Given the description of an element on the screen output the (x, y) to click on. 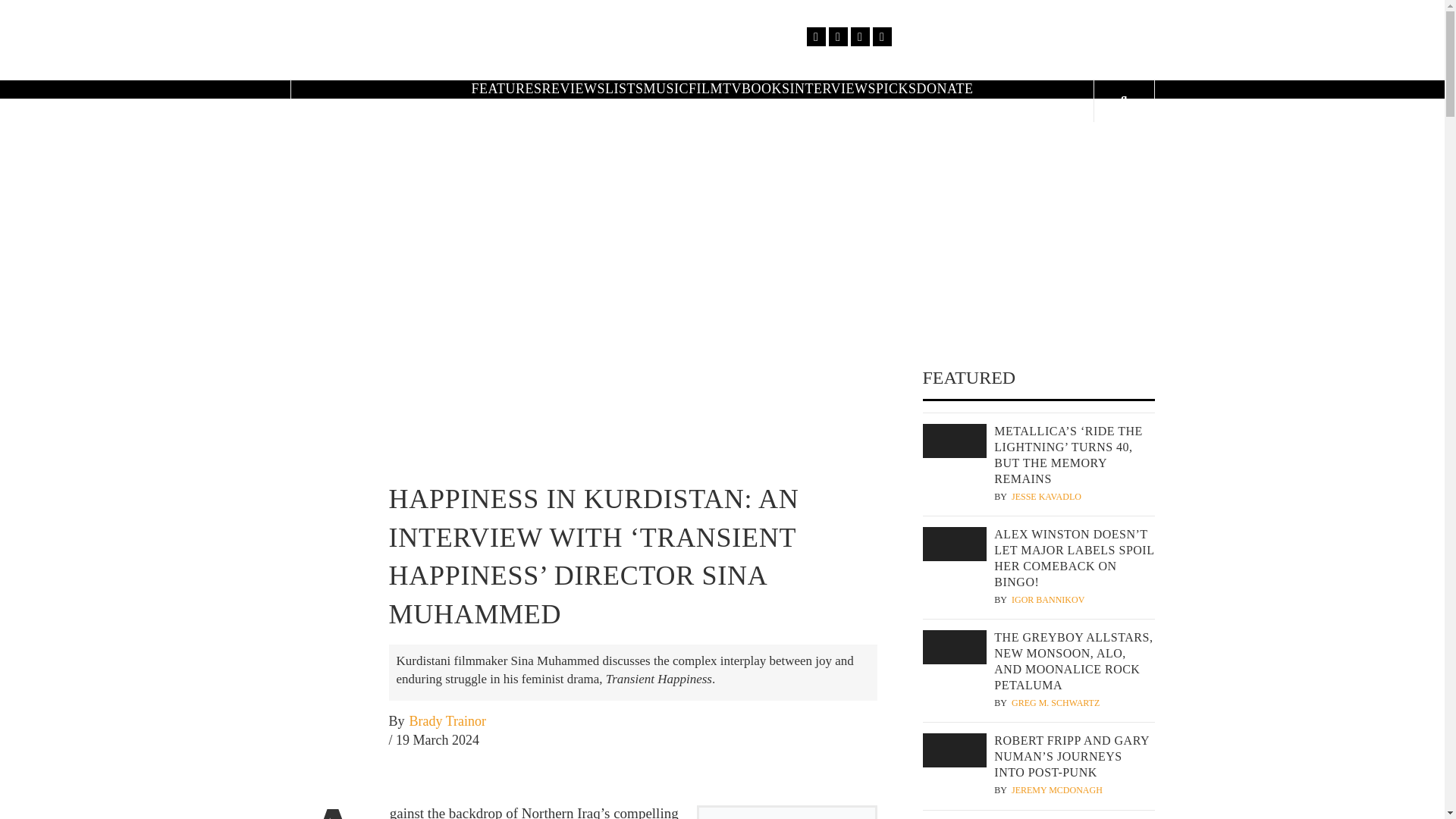
TV (731, 88)
FILM (705, 88)
REVIEWS (573, 88)
Jesse Kavadlo (1046, 496)
Instagram (859, 36)
Jeremy McDonagh (1056, 789)
INTERVIEWS (833, 88)
FEATURES (505, 88)
MUSIC (665, 88)
Igor Bannikov (1047, 599)
